Given the description of an element on the screen output the (x, y) to click on. 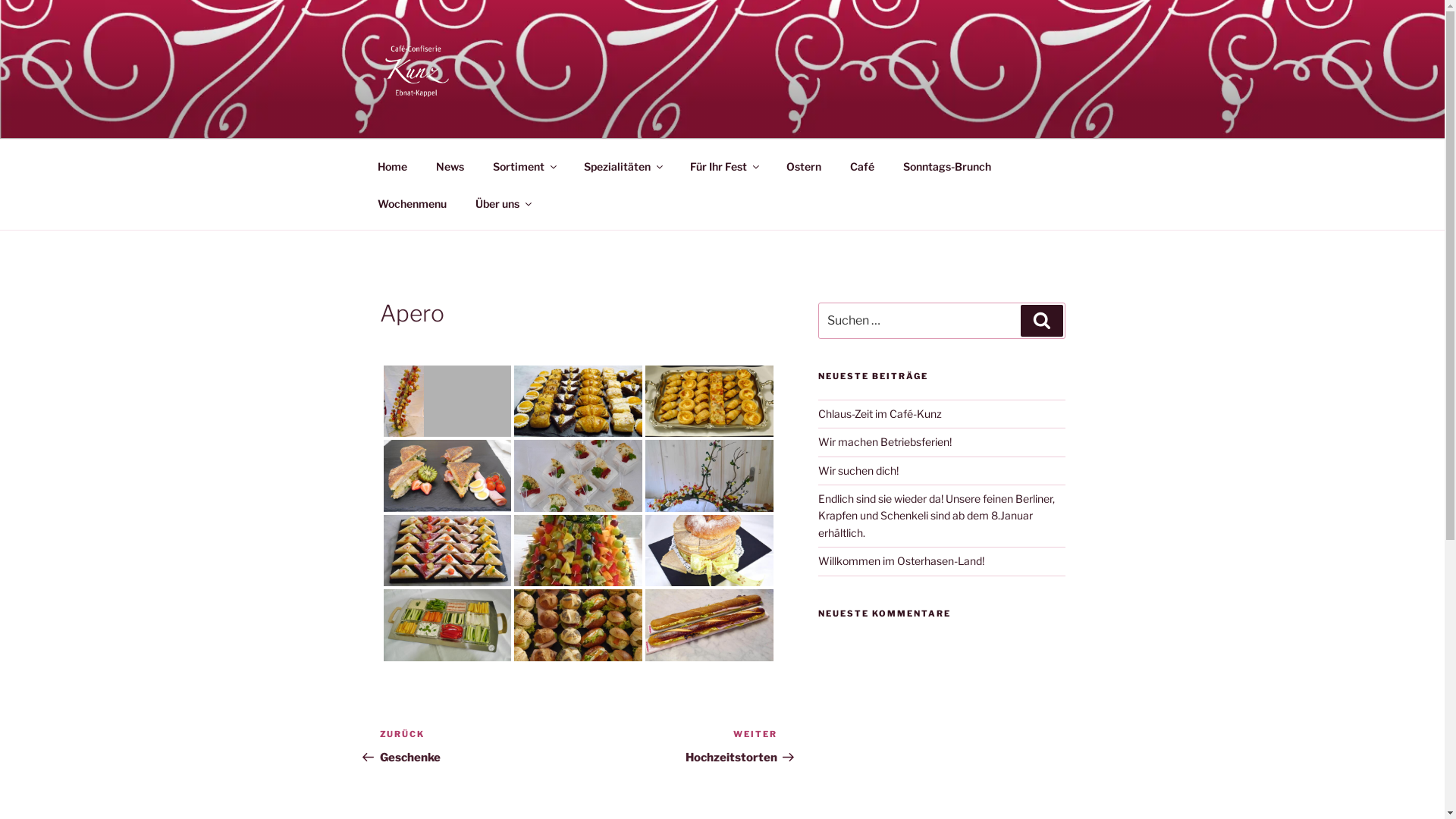
Fruchtspiessli Element type: hover (709, 475)
Buffetkegel Element type: hover (578, 550)
Home Element type: text (392, 165)
Triangolo Element type: hover (447, 475)
Mousse Becherli Element type: hover (578, 475)
Wochenmenu Element type: text (411, 203)
Sortiment Element type: text (523, 165)
Wir machen Betriebsferien! Element type: text (884, 441)
KUNZ Element type: text (423, 118)
Meterbrot Element type: hover (709, 625)
Ostern Element type: text (803, 165)
Minisandwich Element type: hover (578, 625)
Suchen Element type: text (1041, 320)
News Element type: text (450, 165)
Wir suchen dich! Element type: text (858, 470)
Willkommen im Osterhasen-Land! Element type: text (901, 560)
Partybrot Element type: hover (709, 550)
Fruchtspiessli Element type: hover (403, 400)
Sonntags-Brunch Element type: text (947, 165)
